Given the description of an element on the screen output the (x, y) to click on. 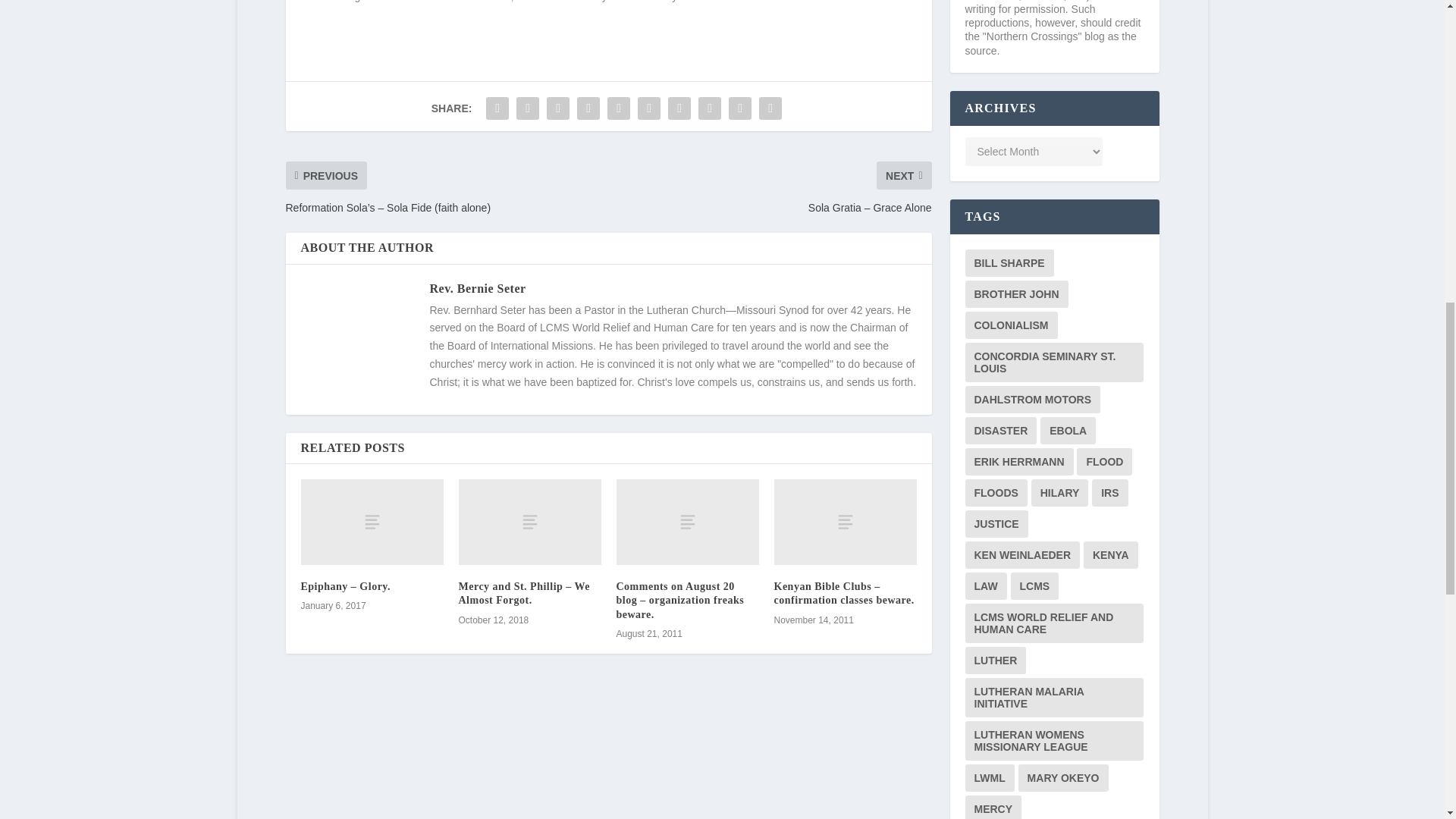
View all posts by Rev. Bernie Seter (477, 287)
Rev. Bernie Seter (477, 287)
